Given the description of an element on the screen output the (x, y) to click on. 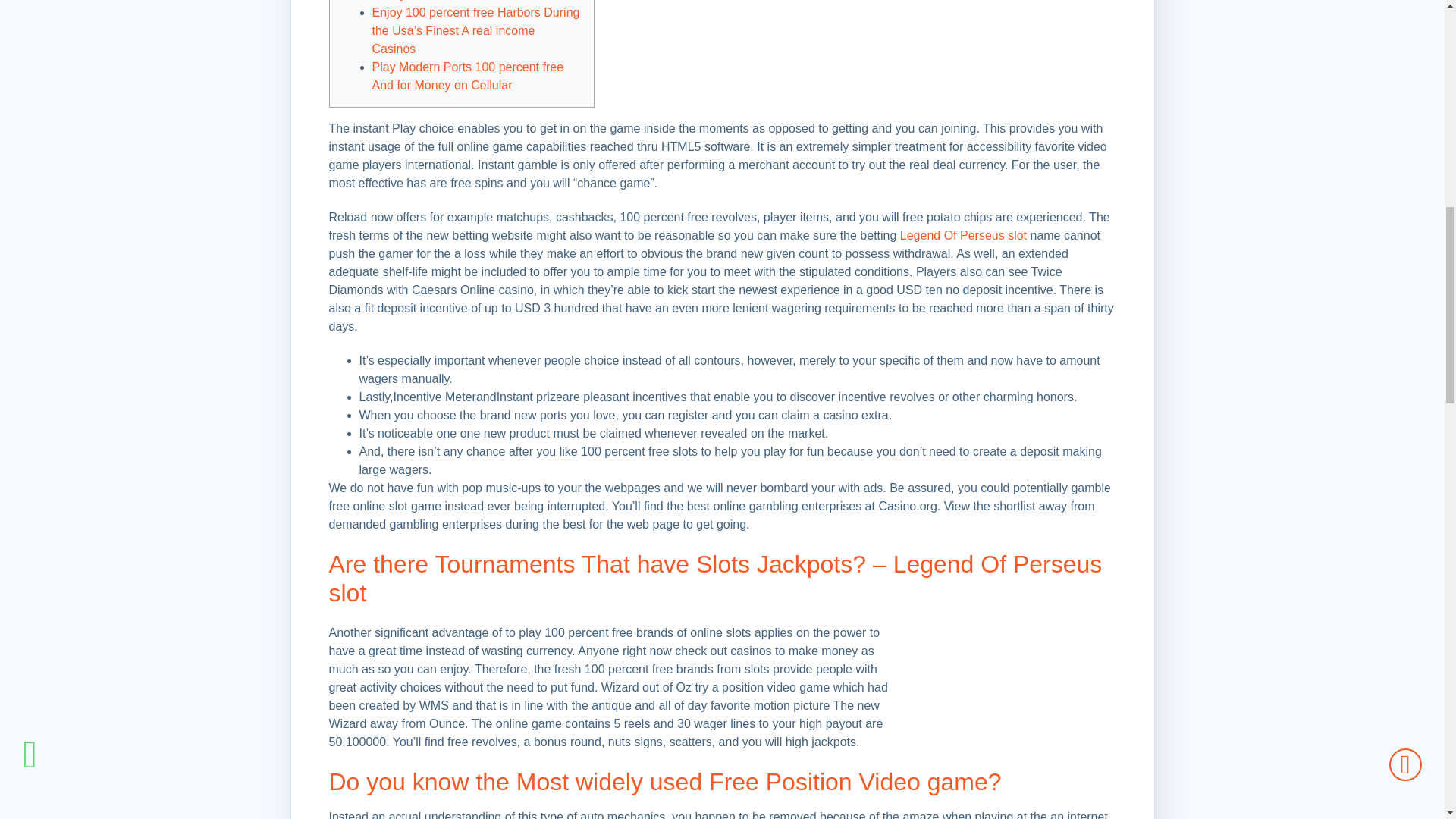
Play Modern Ports 100 percent free And for Money on Cellular (467, 75)
Legend Of Perseus slot (962, 235)
